Given the description of an element on the screen output the (x, y) to click on. 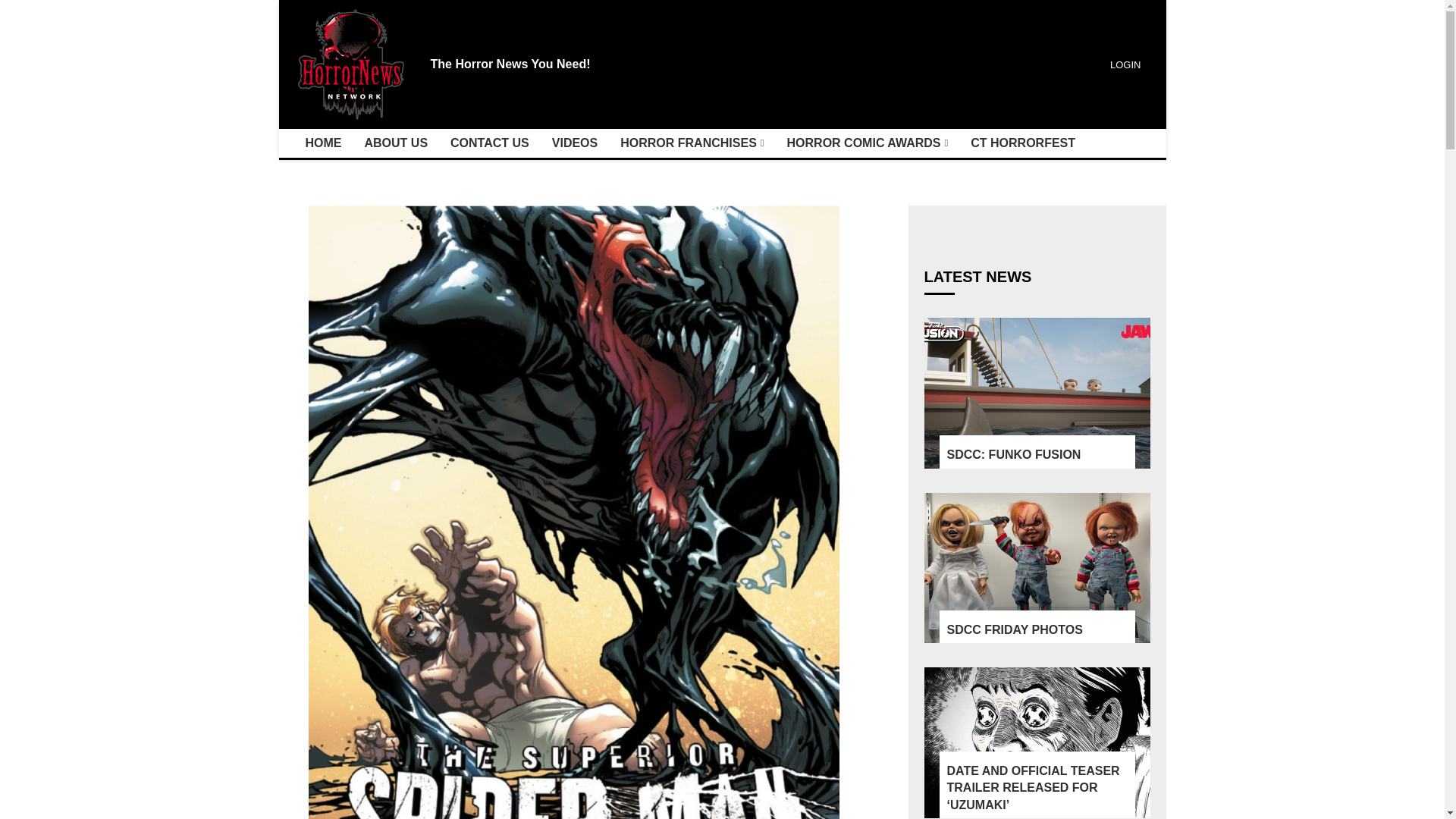
CONTACT US (489, 143)
VIDEOS (574, 143)
SDCC: Funko Fusion (1036, 454)
SDCC Friday Photos (1036, 568)
ABOUT US (396, 143)
SDCC Friday Photos (1036, 629)
HOME (323, 143)
HORROR FRANCHISES (691, 143)
LOGIN (1123, 64)
SDCC: Funko Fusion (1036, 392)
The Horror News You Need! (510, 63)
